Given the description of an element on the screen output the (x, y) to click on. 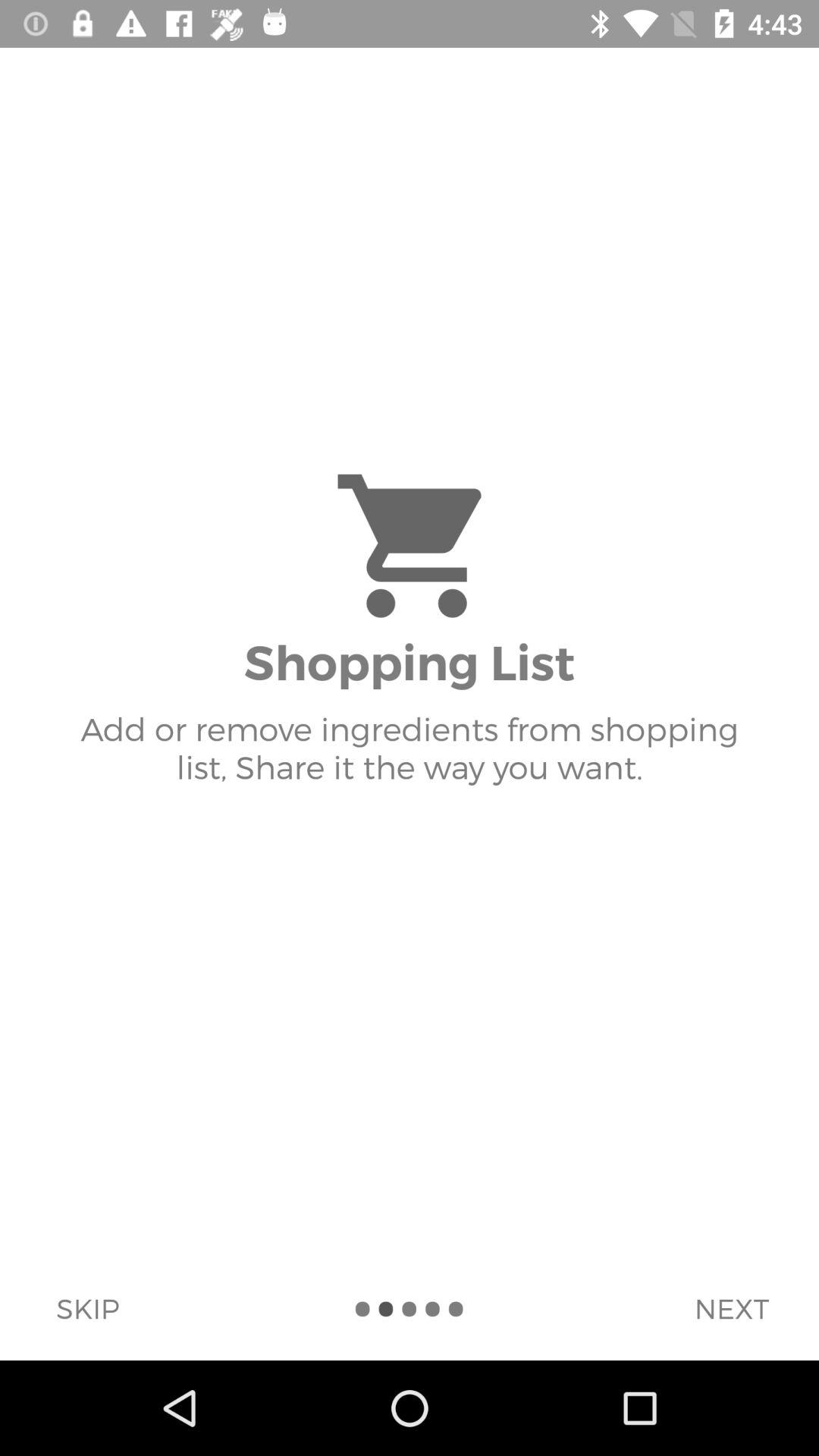
swipe to next (731, 1308)
